Given the description of an element on the screen output the (x, y) to click on. 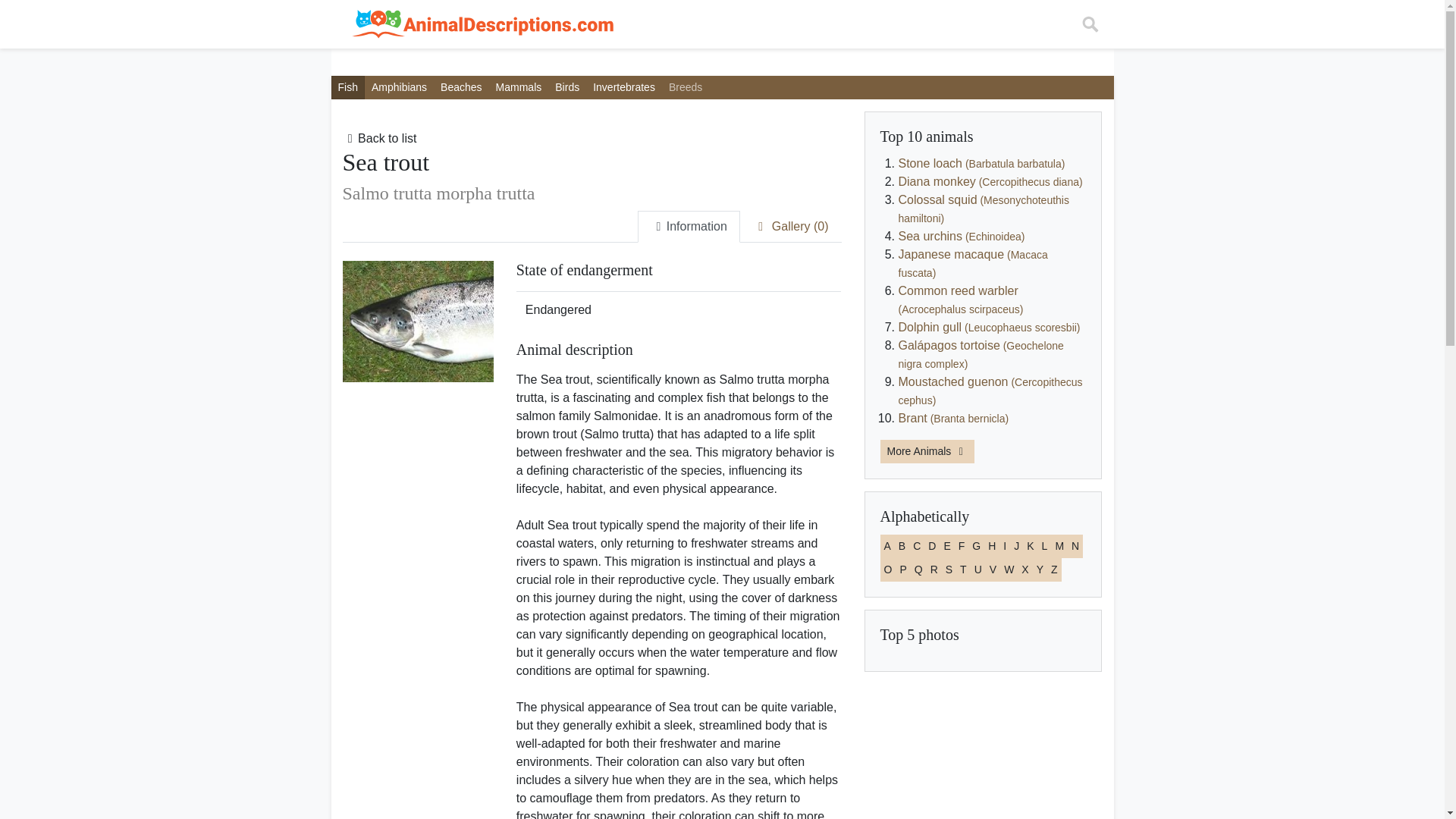
Beaches (460, 87)
Invertebrates (624, 87)
Back to list (379, 137)
Fish (347, 87)
More Animals (926, 451)
Birds (567, 87)
Information (688, 226)
Mammals (518, 87)
Breeds (685, 87)
Amphibians (399, 87)
